Given the description of an element on the screen output the (x, y) to click on. 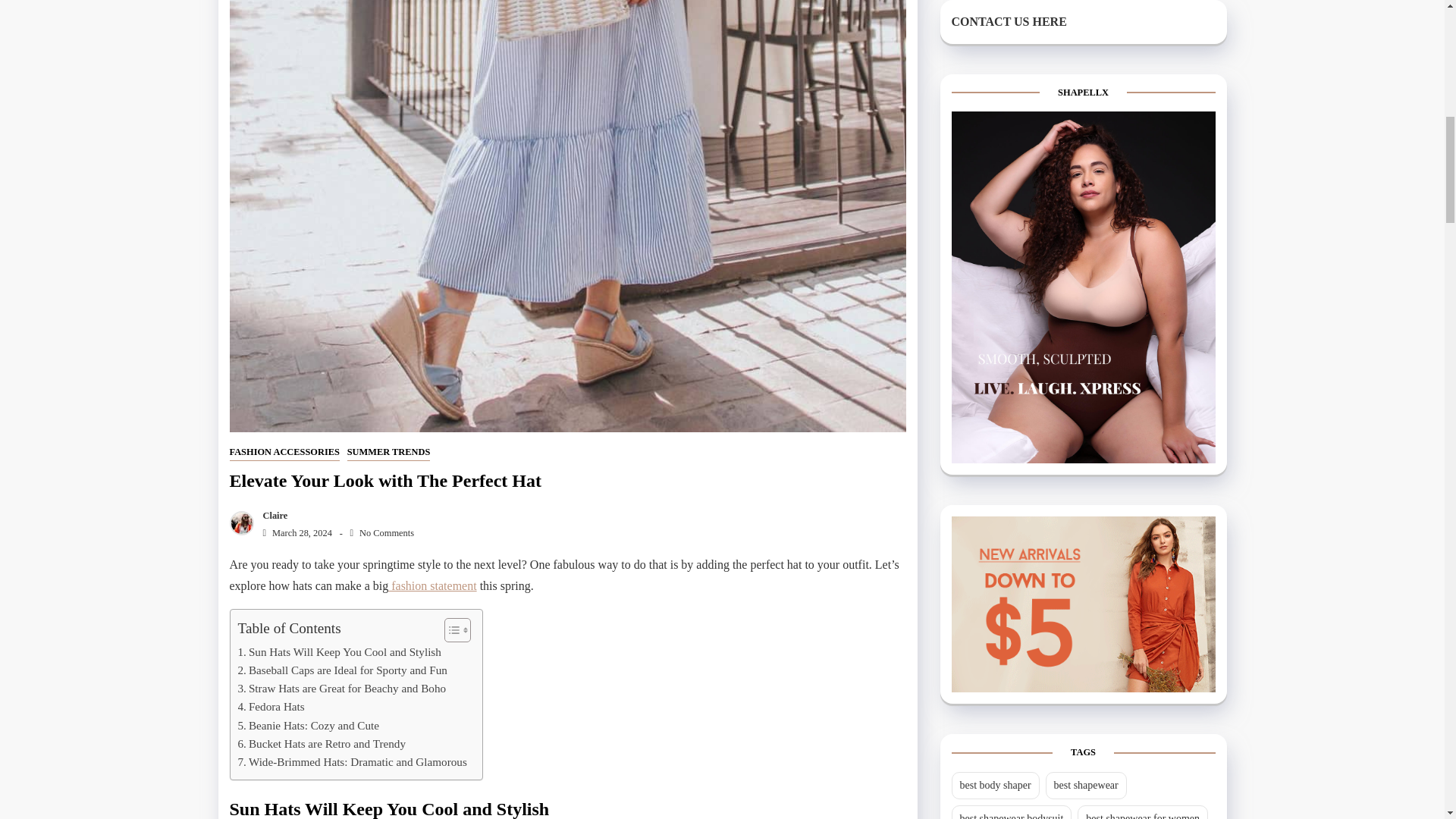
FASHION ACCESSORIES (283, 452)
Fedora Hats (271, 706)
Baseball Caps are Ideal for Sporty and Fun (342, 669)
Baseball Caps are Ideal for Sporty and Fun (342, 669)
Claire (271, 515)
Sun Hats Will Keep You Cool and Stylish (339, 651)
Wide-Brimmed Hats: Dramatic and Glamorous (352, 761)
Straw Hats are Great for Beachy and Boho (342, 688)
Beanie Hats: Cozy and Cute (309, 725)
Bucket Hats are Retro and Trendy (322, 743)
SUMMER TRENDS (388, 452)
Wide-Brimmed Hats: Dramatic and Glamorous (352, 761)
Bucket Hats are Retro and Trendy (322, 743)
Sun Hats Will Keep You Cool and Stylish (339, 651)
fashion statement (432, 585)
